Given the description of an element on the screen output the (x, y) to click on. 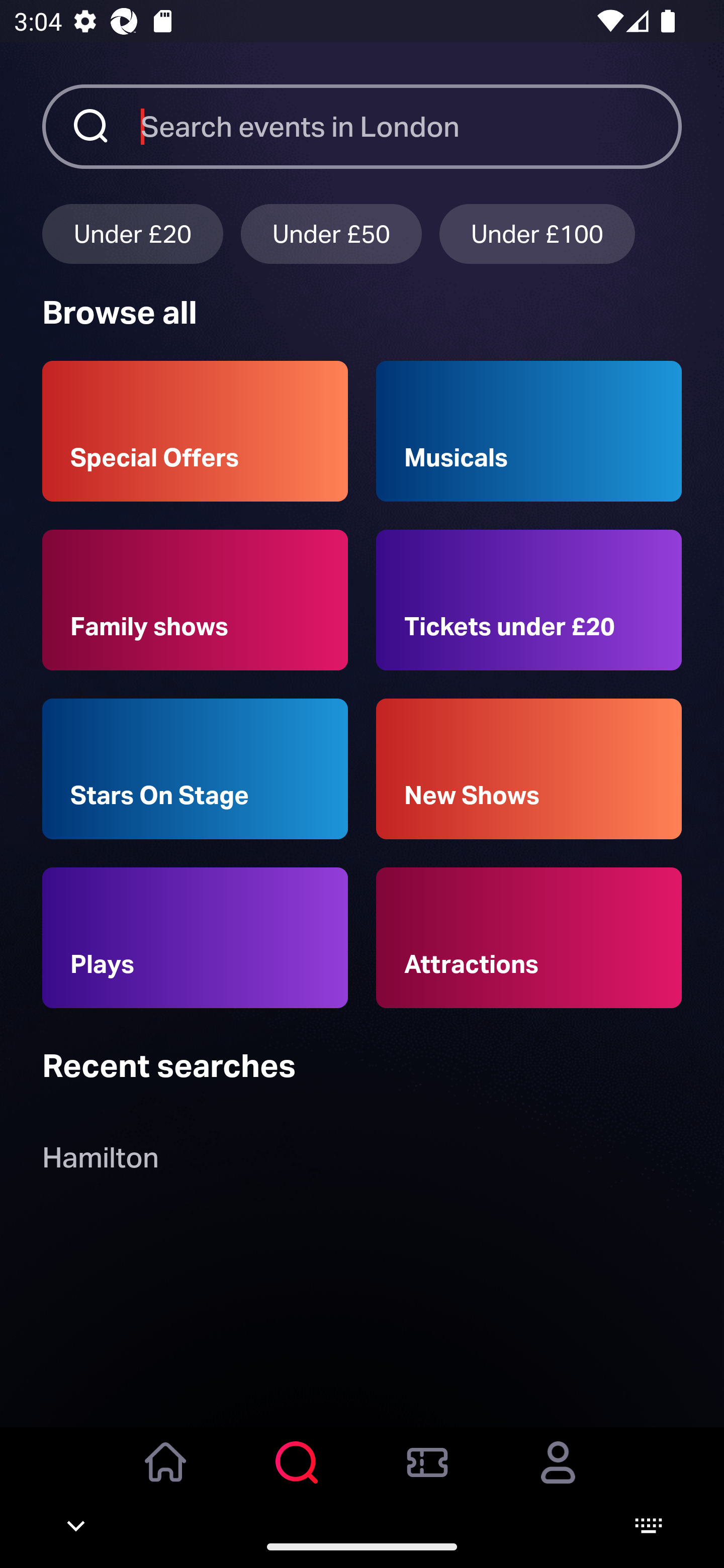
Search events in London (411, 126)
Under £20 (131, 233)
Under £50 (331, 233)
Under £100 (536, 233)
Special Offers (194, 430)
Musicals (528, 430)
Family shows (194, 600)
Tickets under £20  (528, 600)
Stars On Stage (194, 768)
New Shows (528, 768)
Plays (194, 937)
Attractions  (528, 937)
Hamilton (99, 1161)
Home (165, 1475)
Orders (427, 1475)
Account (558, 1475)
